Given the description of an element on the screen output the (x, y) to click on. 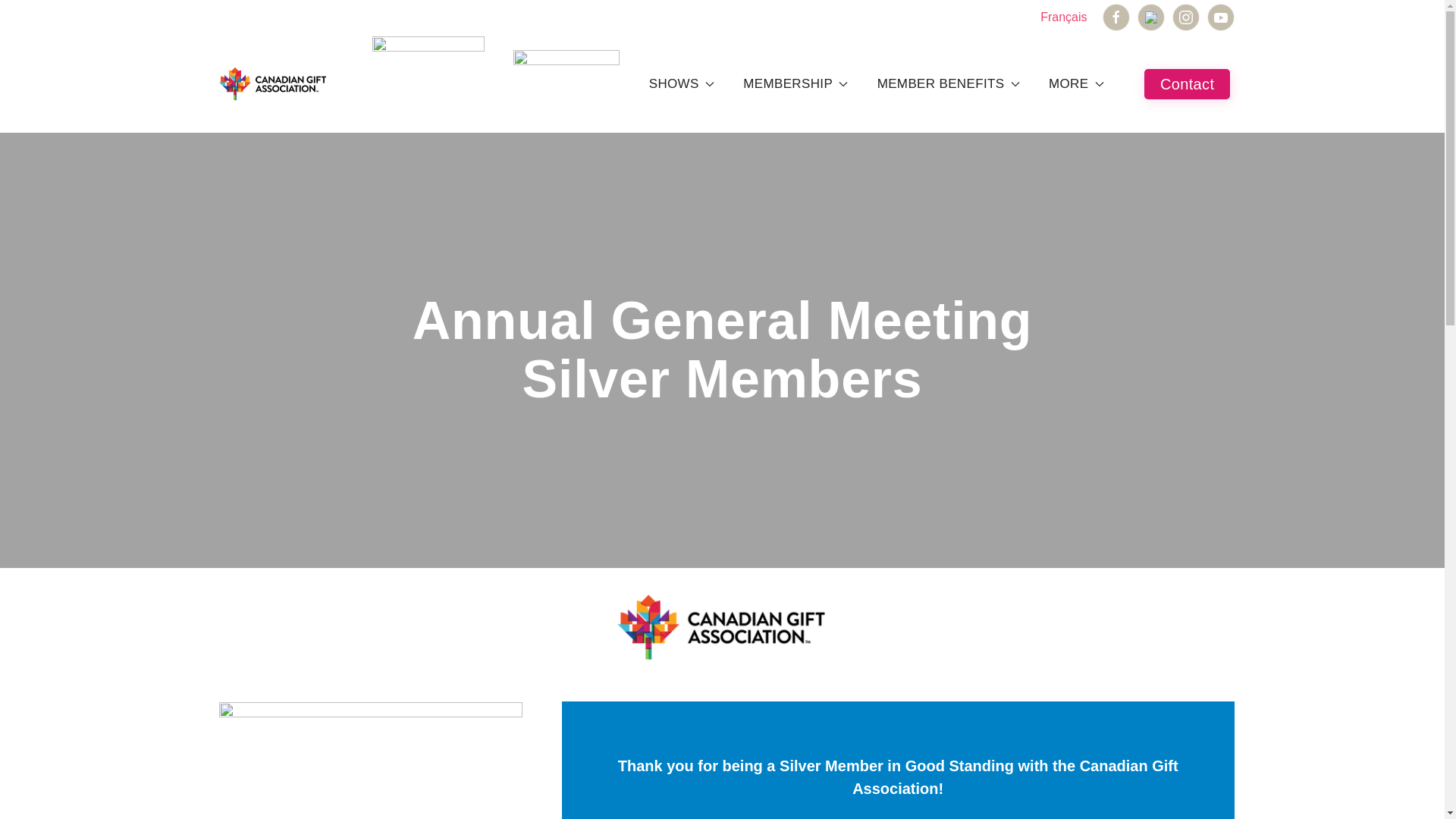
MORE (1075, 83)
MEMBERSHIP (794, 83)
SHOWS (681, 83)
MEMBER BENEFITS (948, 83)
Logo English (272, 84)
